Given the description of an element on the screen output the (x, y) to click on. 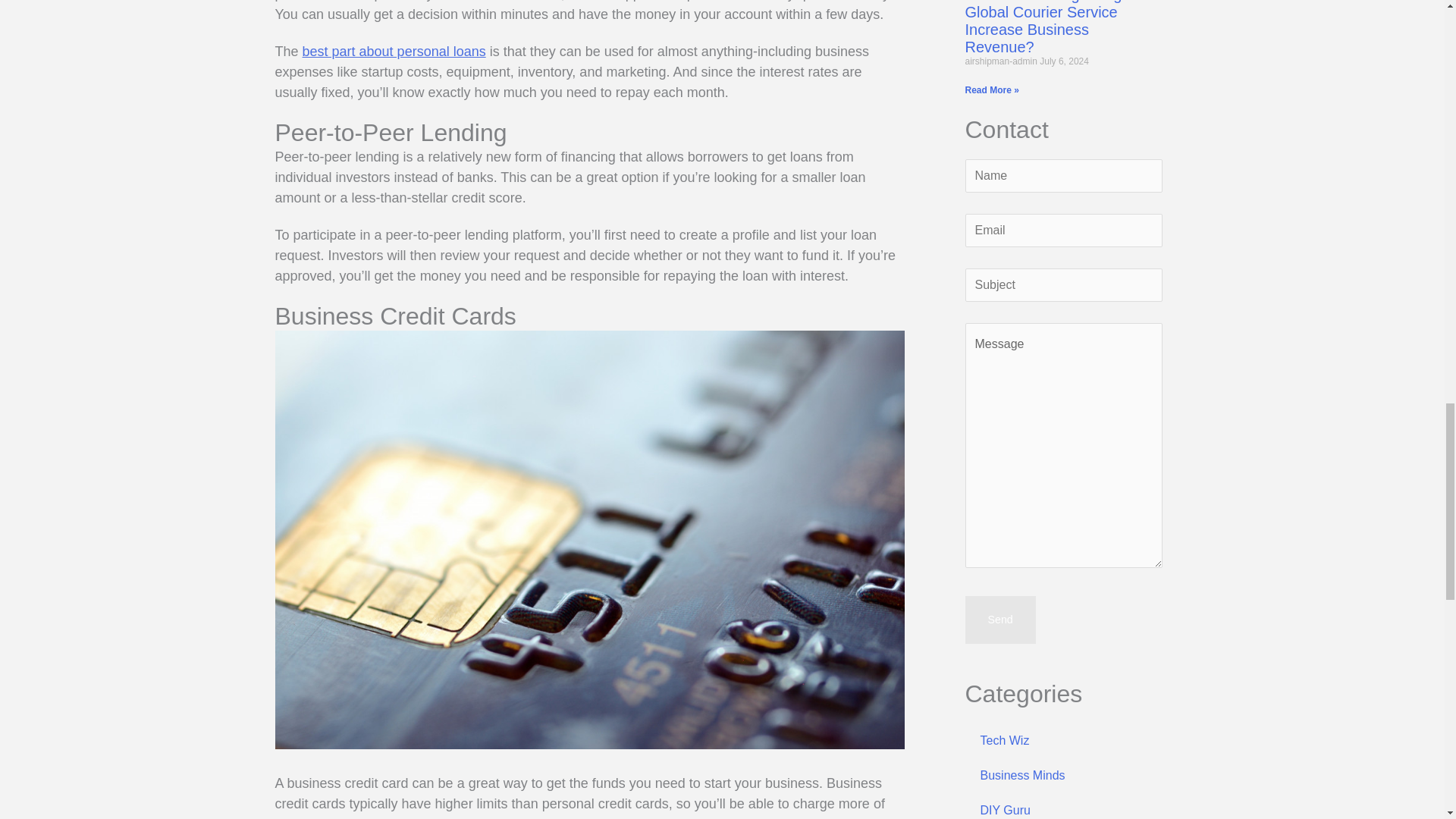
Send (999, 619)
DIY Guru (1062, 806)
Send (999, 619)
Business Minds (1062, 775)
Tech Wiz (1062, 740)
best part about personal loans (394, 51)
